Given the description of an element on the screen output the (x, y) to click on. 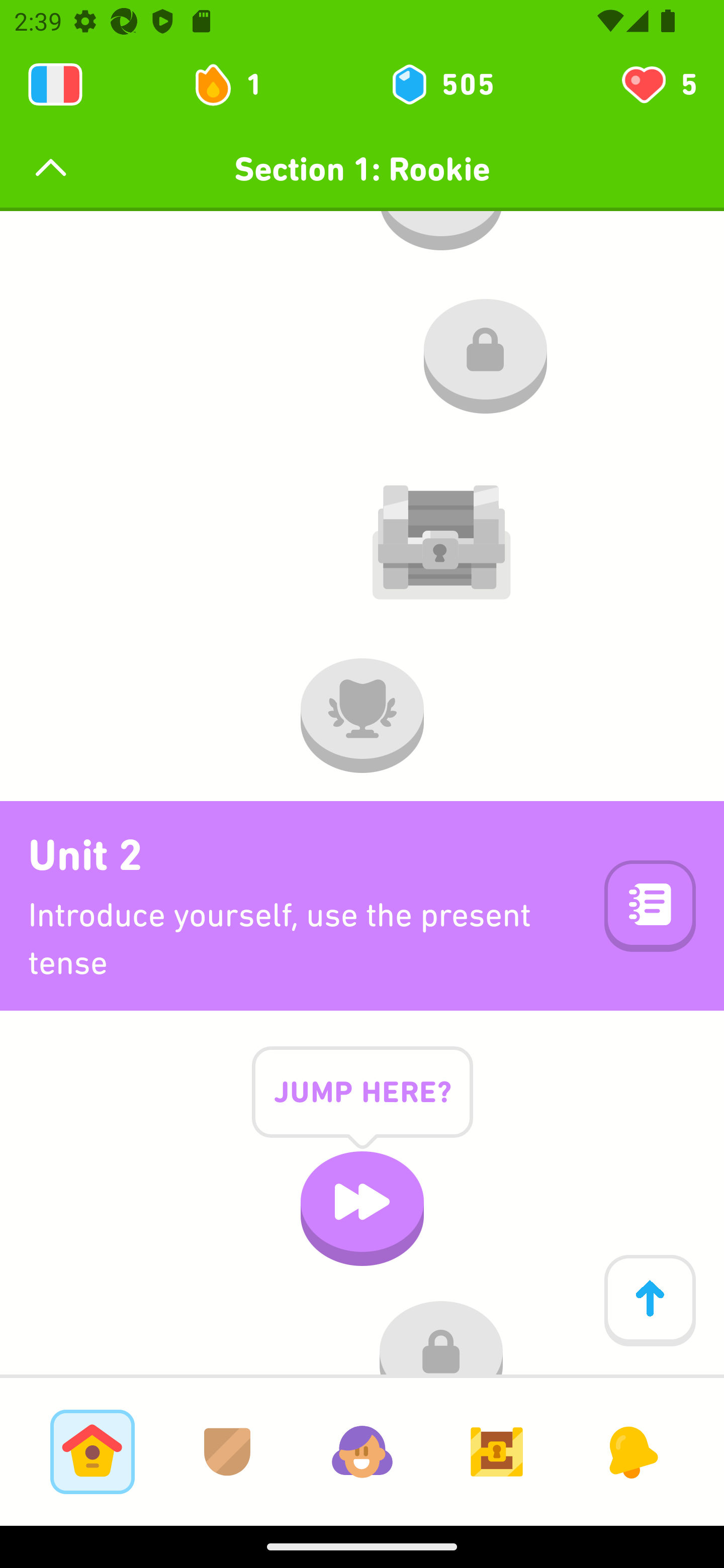
Learning 2131888976 (55, 84)
1 day streak 1 (236, 84)
505 (441, 84)
You have 5 hearts left 5 (657, 84)
Section 1: Rookie (362, 169)
JUMP HERE? (361, 1106)
Learn Tab (91, 1451)
Leagues Tab (227, 1451)
Profile Tab (361, 1451)
Goals Tab (496, 1451)
News Tab (631, 1451)
